Given the description of an element on the screen output the (x, y) to click on. 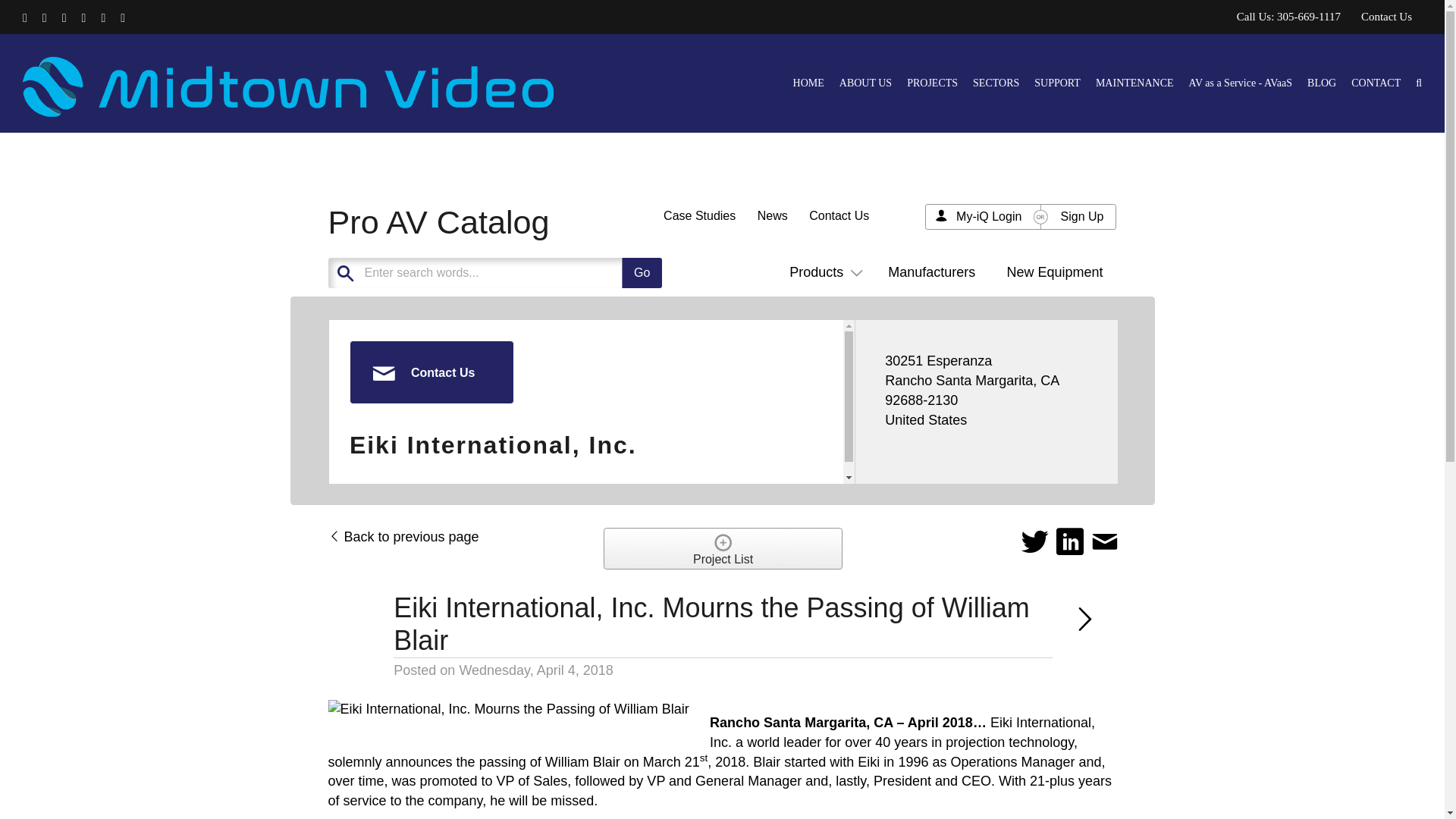
Go (641, 272)
Contact Us (1386, 16)
Go (641, 272)
Call Us: 305-669-1117 (1289, 16)
AV as a Service - AVaaS (1240, 82)
Enter search words... (531, 272)
